Given the description of an element on the screen output the (x, y) to click on. 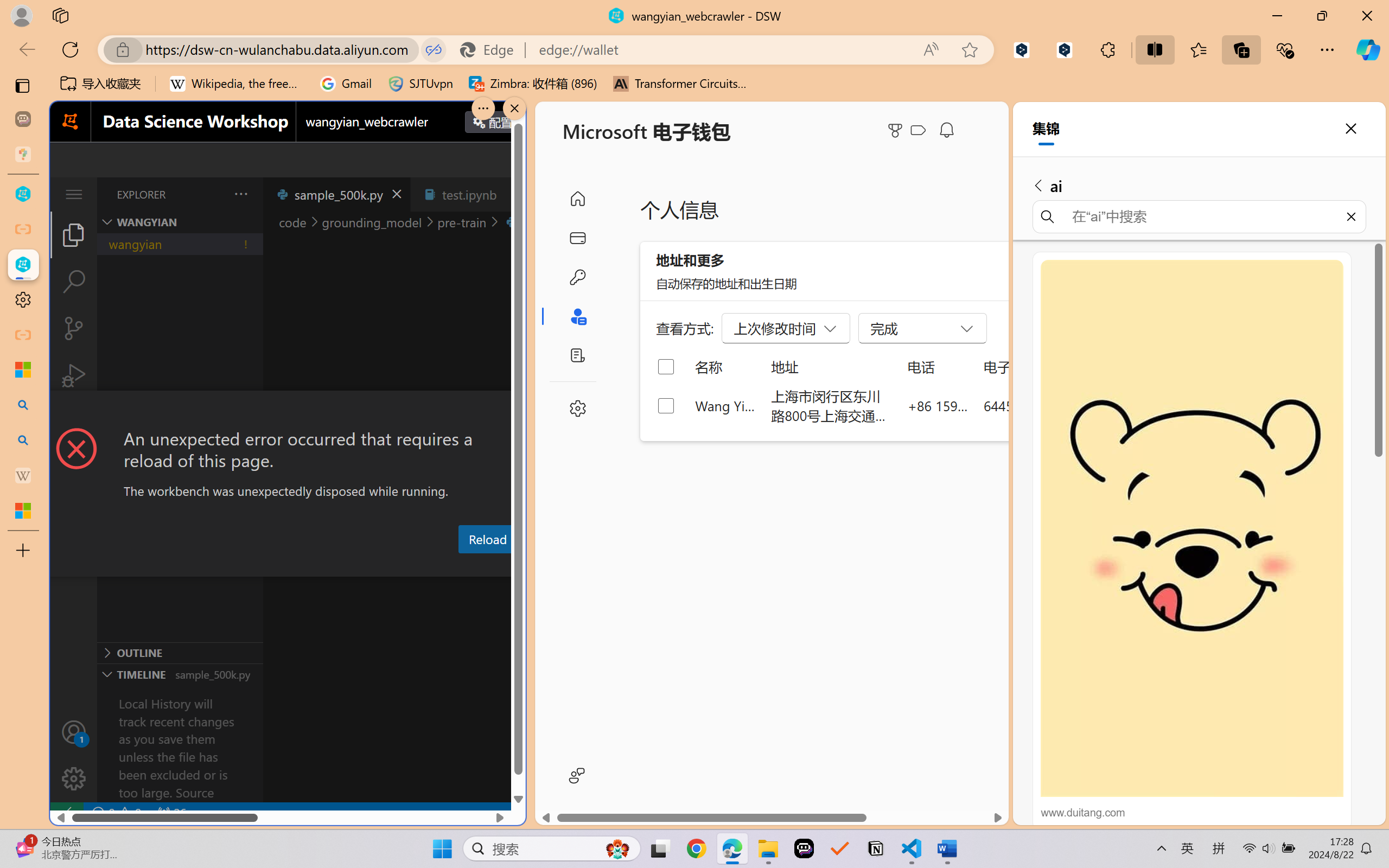
sample_500k.py (336, 194)
Close (Ctrl+F4) (512, 194)
wangyian_webcrawler - DSW (22, 264)
Extensions (Ctrl+Shift+X) (73, 422)
Class: actions-container (287, 410)
Debug Console (Ctrl+Shift+Y) (463, 565)
